Given the description of an element on the screen output the (x, y) to click on. 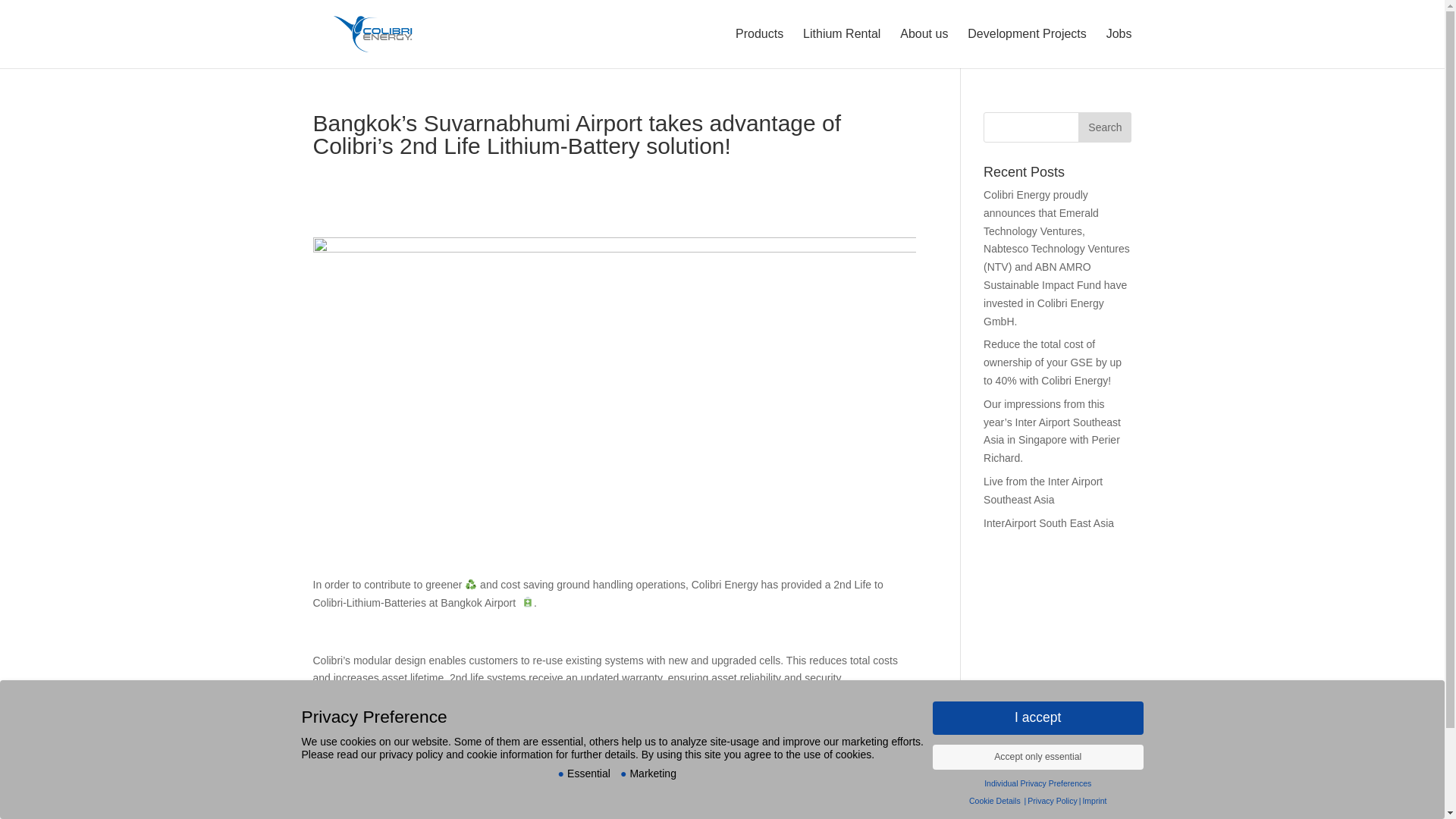
Accept only essential (1037, 757)
Development Projects (1027, 46)
Cookie Details (994, 800)
Lithium Rental (841, 46)
Products (759, 46)
About us (923, 46)
InterAirport South East Asia (1048, 522)
Live from the Inter Airport Southeast Asia (1043, 490)
Imprint (1093, 800)
Privacy Policy (1052, 800)
